Given the description of an element on the screen output the (x, y) to click on. 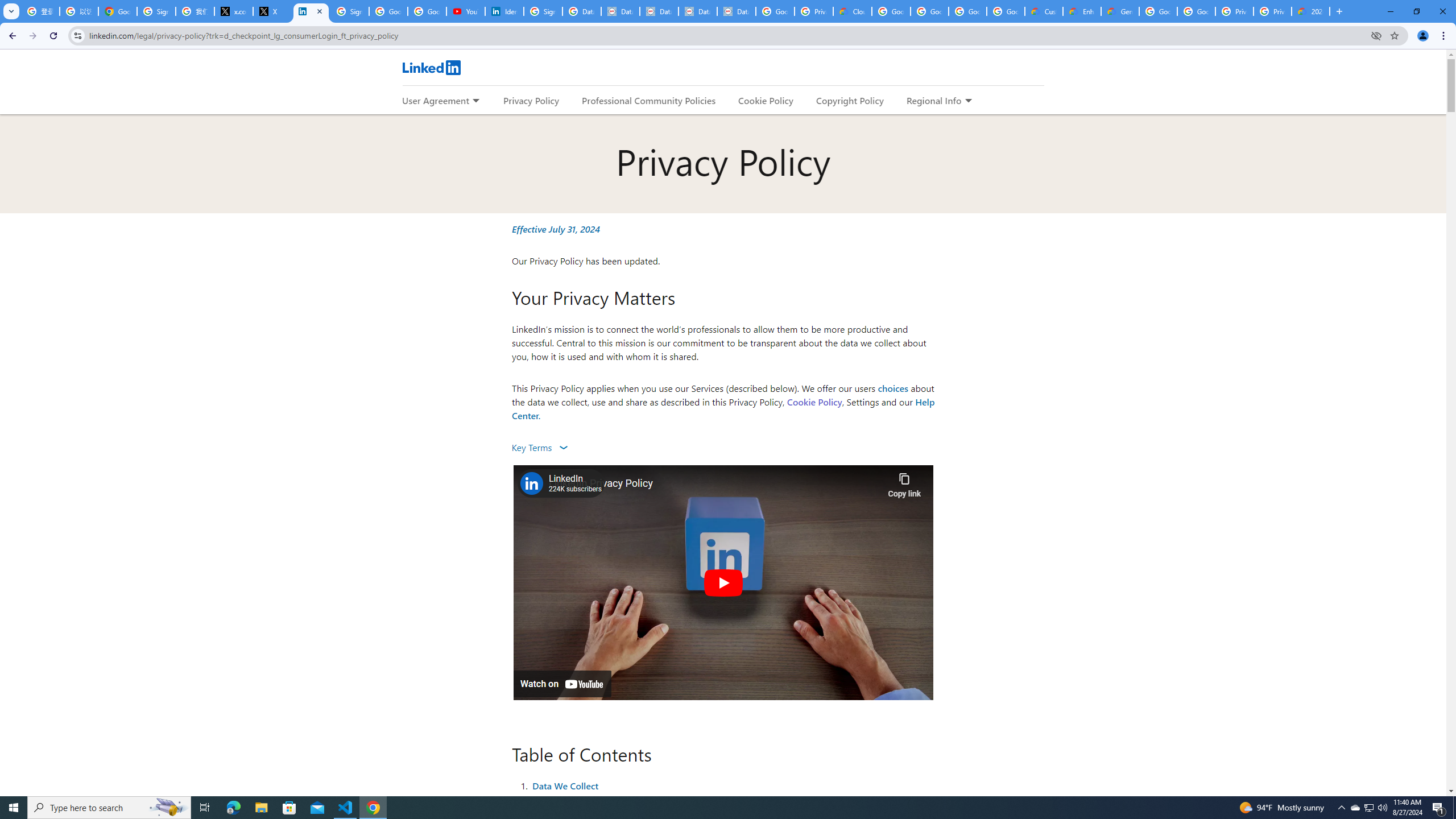
Play (722, 582)
Photo image of LinkedIn (531, 482)
LinkedIn Privacy Policy (310, 11)
Watch on YouTube (561, 683)
Professional Community Policies (649, 100)
Data Privacy Framework (620, 11)
Google Cloud Platform (1196, 11)
Expand to show more links for User Agreement (475, 101)
